Given the description of an element on the screen output the (x, y) to click on. 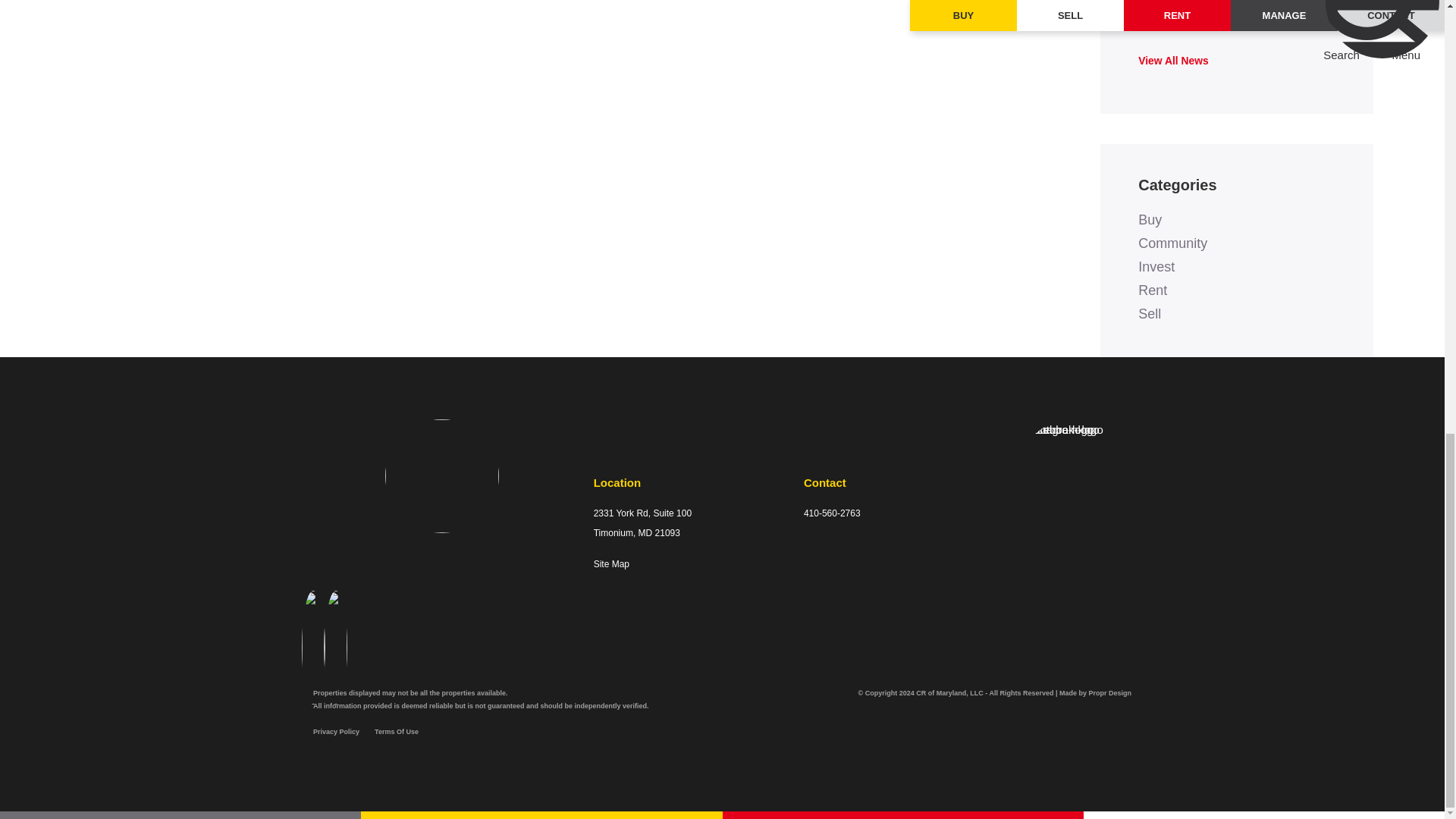
View All News (1173, 60)
Community (1172, 242)
Invest (1156, 266)
Buy (1149, 219)
